Given the description of an element on the screen output the (x, y) to click on. 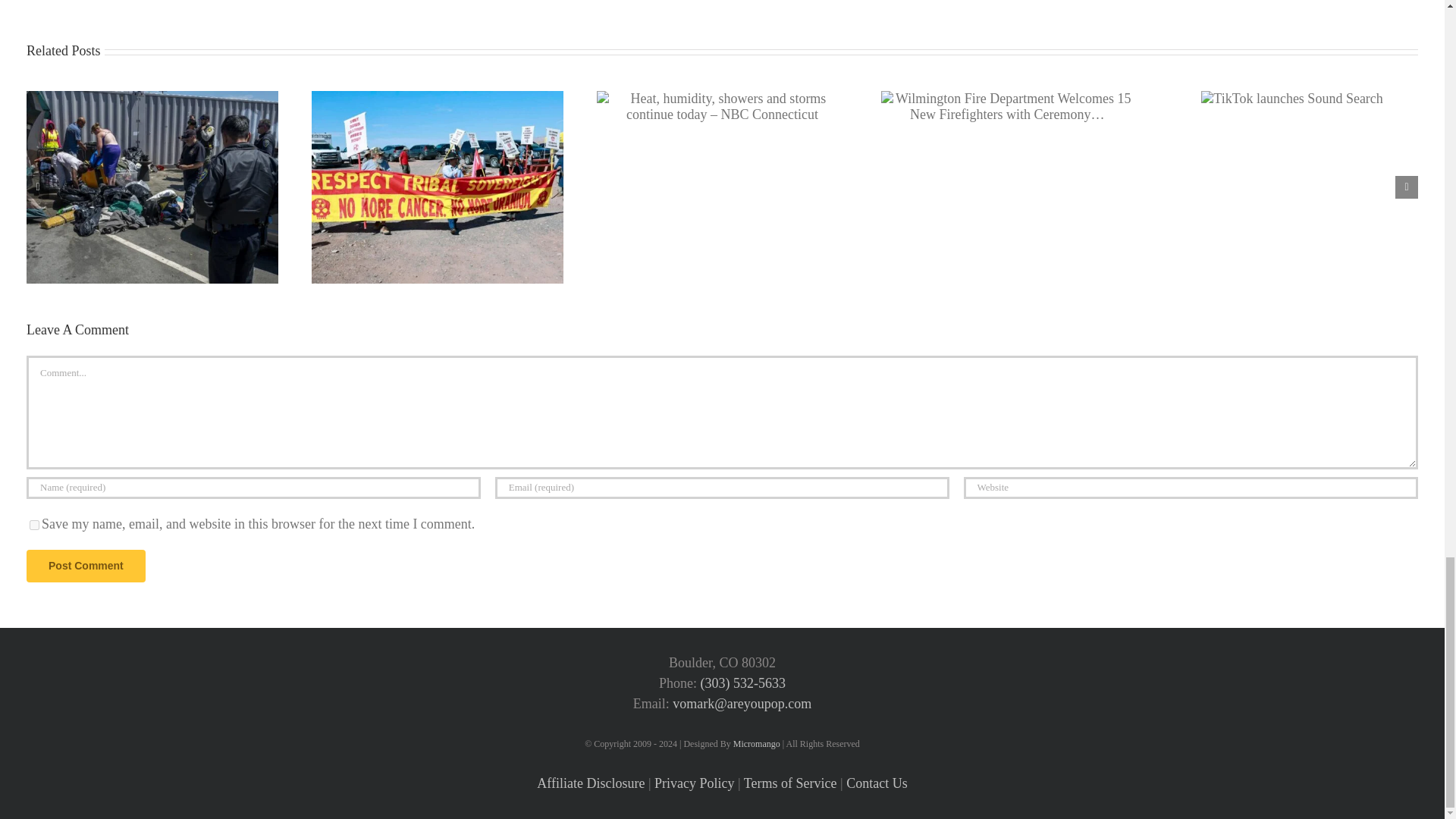
yes (34, 524)
Post Comment (85, 565)
